Given the description of an element on the screen output the (x, y) to click on. 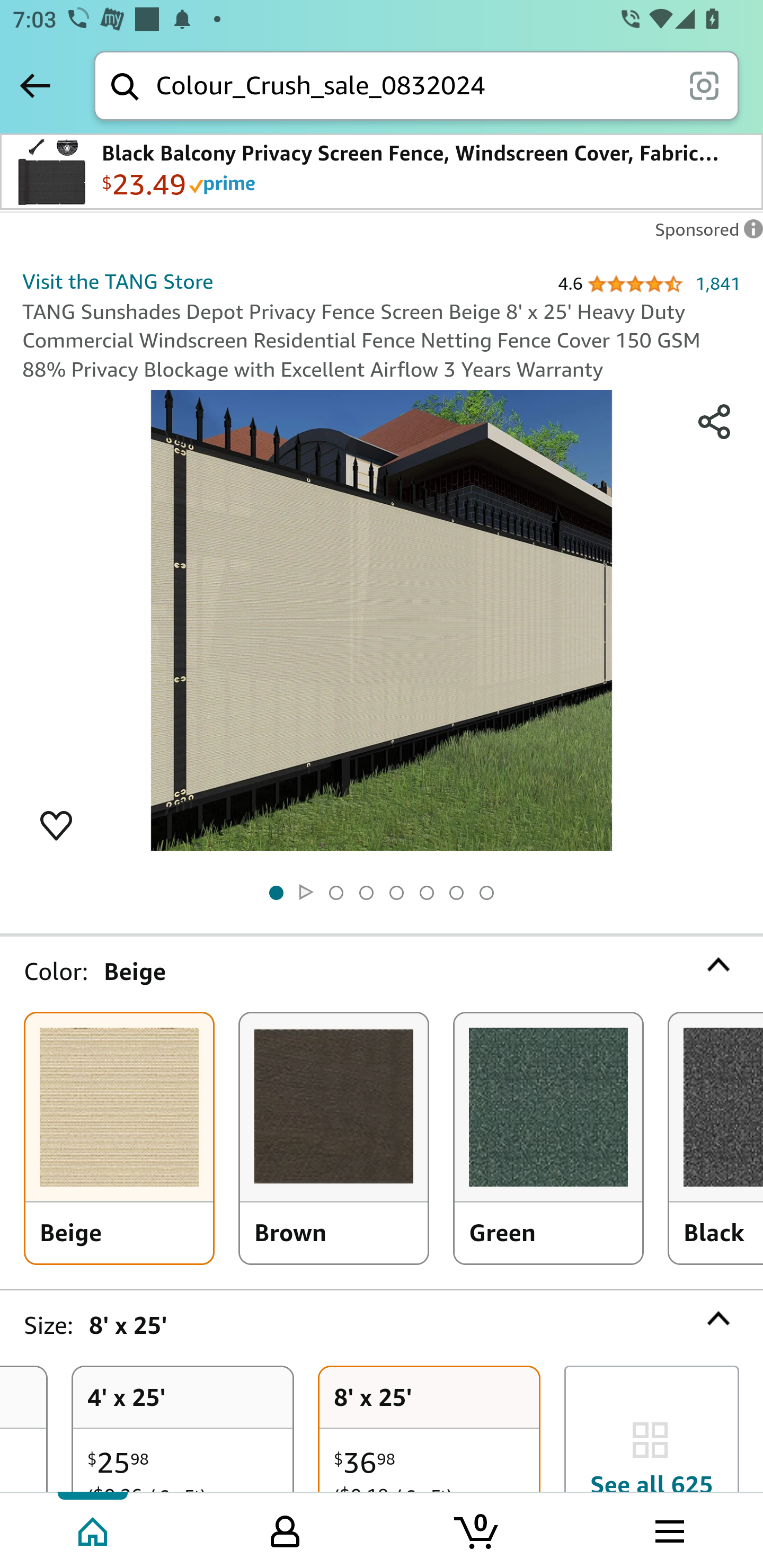
Back (35, 85)
Search Search Colour_Crush_sale_0832024 scan it (416, 85)
scan it (704, 85)
Leave feedback on Sponsored ad Sponsored  (703, 234)
Visit the TANG Store (118, 281)
Heart to save an item to your default list (56, 824)
Beige (118, 1137)
Brown (333, 1137)
Green (548, 1137)
Black (716, 1137)
Home Tab 1 of 4 (94, 1529)
Your Amazon.com Tab 2 of 4 (285, 1529)
Cart 0 item Tab 3 of 4 0 (477, 1529)
Browse menu Tab 4 of 4 (668, 1529)
